Given the description of an element on the screen output the (x, y) to click on. 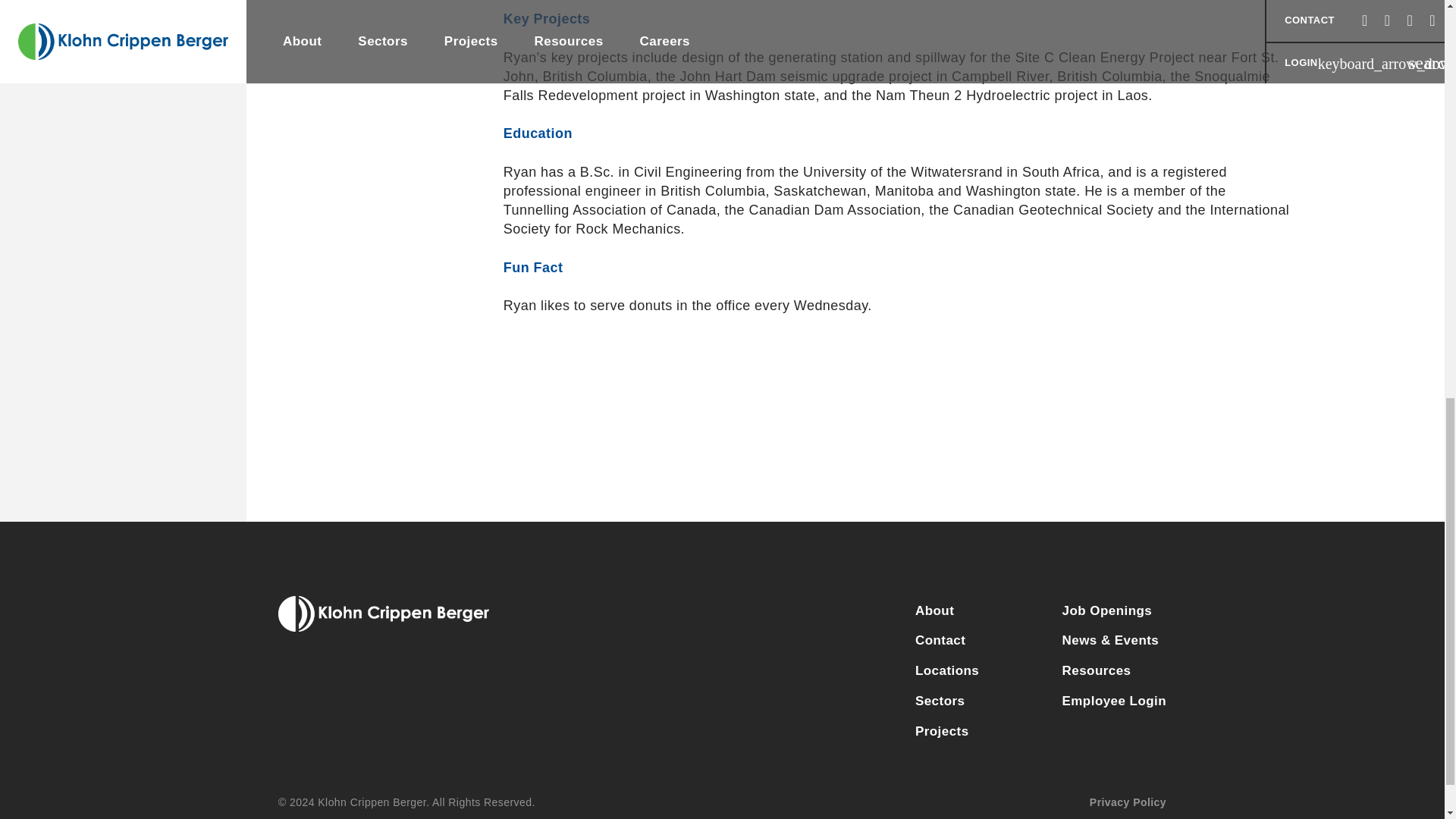
About (967, 611)
Locations (967, 671)
Contact (967, 640)
